Given the description of an element on the screen output the (x, y) to click on. 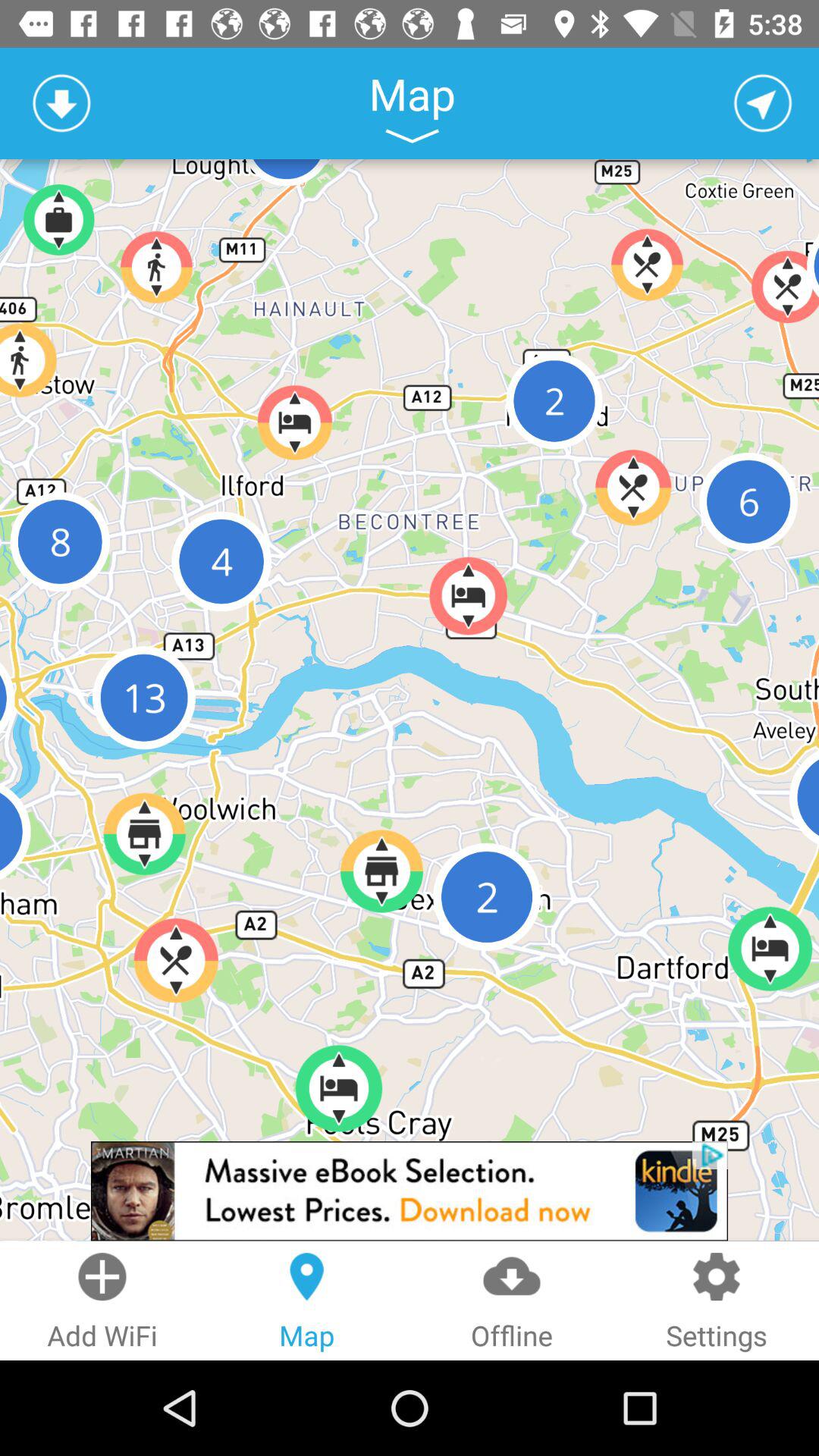
go to option (762, 103)
